Given the description of an element on the screen output the (x, y) to click on. 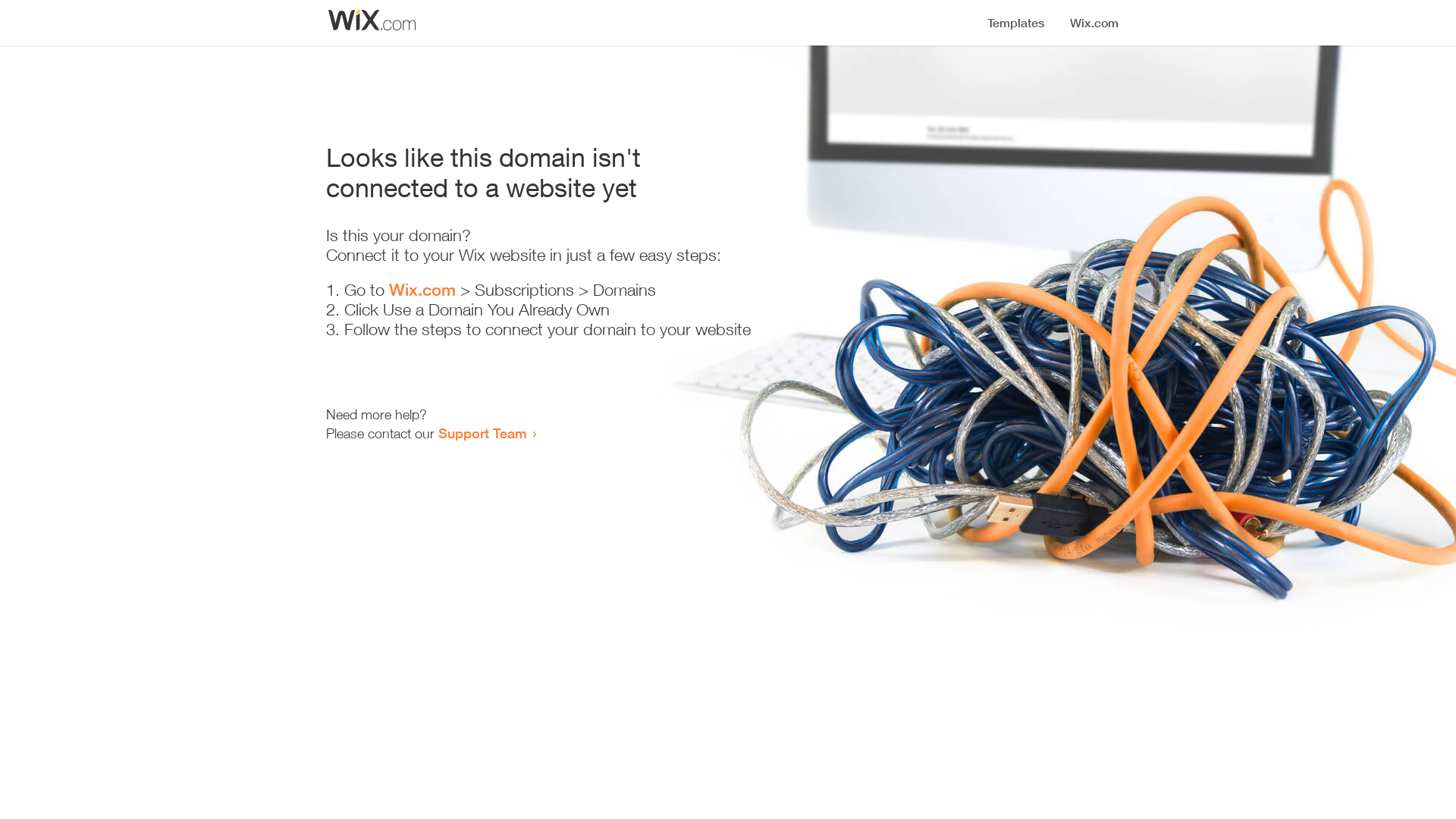
Wix.com Element type: text (422, 289)
Support Team Element type: text (482, 432)
